Given the description of an element on the screen output the (x, y) to click on. 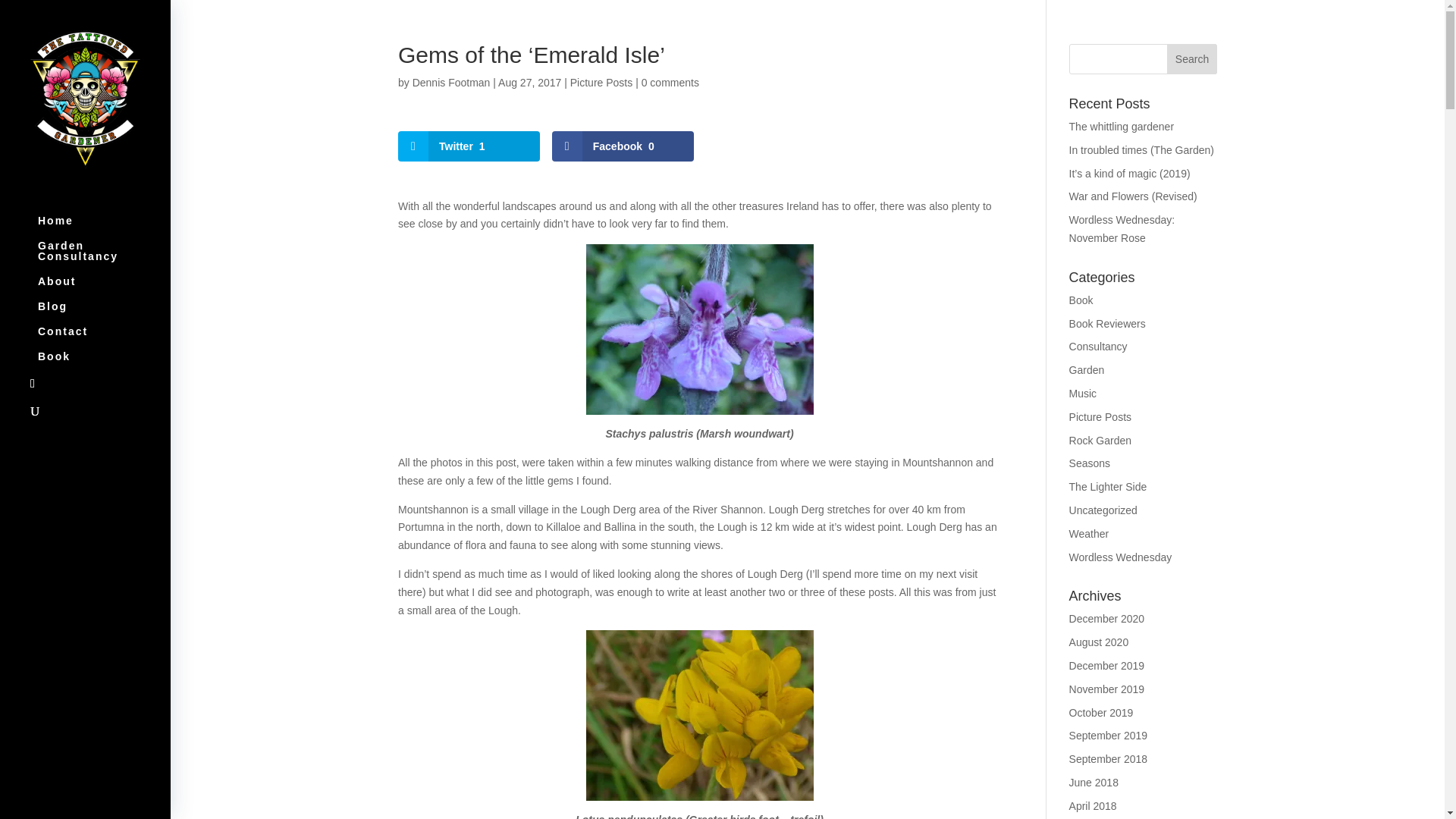
Seasons (1088, 463)
0 comments (670, 82)
Blog (100, 313)
Book Reviewers (1106, 323)
About (100, 288)
Dennis Footman (451, 82)
Twitter 1 (468, 146)
Search (1192, 59)
Wordless Wednesday: November Rose (1121, 228)
Picture Posts (1099, 417)
Contact (100, 338)
Search (1192, 59)
Posts by Dennis Footman (451, 82)
Facebook 0 (622, 146)
Book (1080, 300)
